Given the description of an element on the screen output the (x, y) to click on. 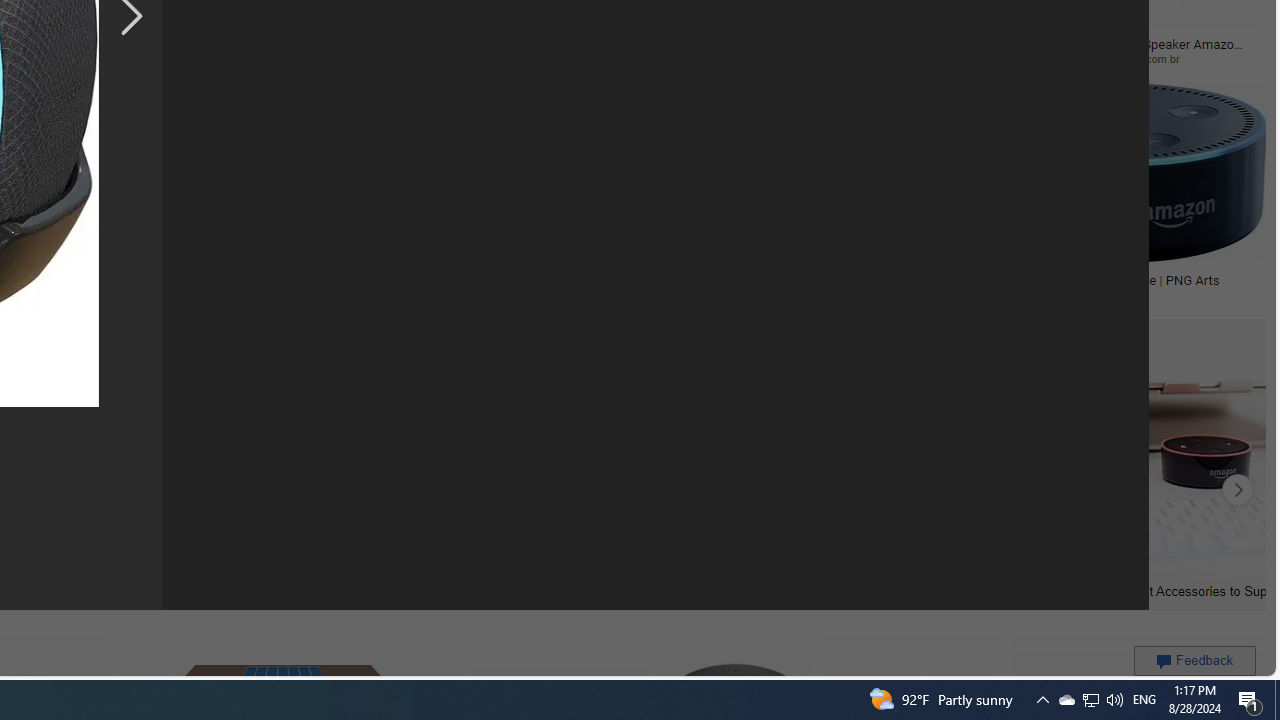
skroutz.gr (359, 295)
Amazon.com: echo dot accessories (909, 589)
Echo Dot Accessories Echo Dot Accessories (175, 489)
currys.co.uk (602, 295)
skroutz.gr (253, 294)
Image result for Amazon Echo Dot PNG (1122, 172)
pnghq.com (836, 295)
